Given the description of an element on the screen output the (x, y) to click on. 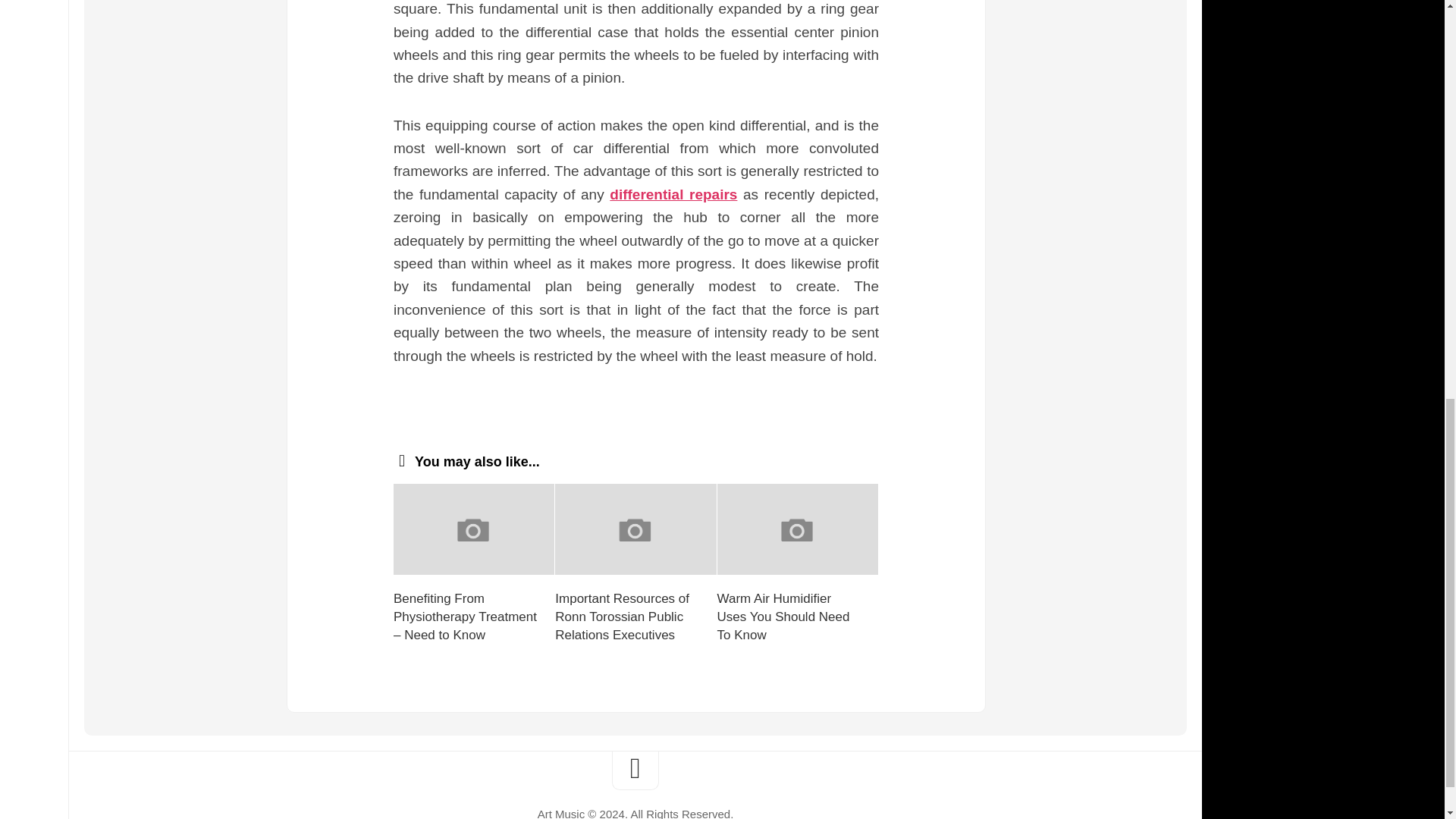
differential repairs (673, 194)
Warm Air Humidifier Uses You Should Need To Know (783, 616)
